Given the description of an element on the screen output the (x, y) to click on. 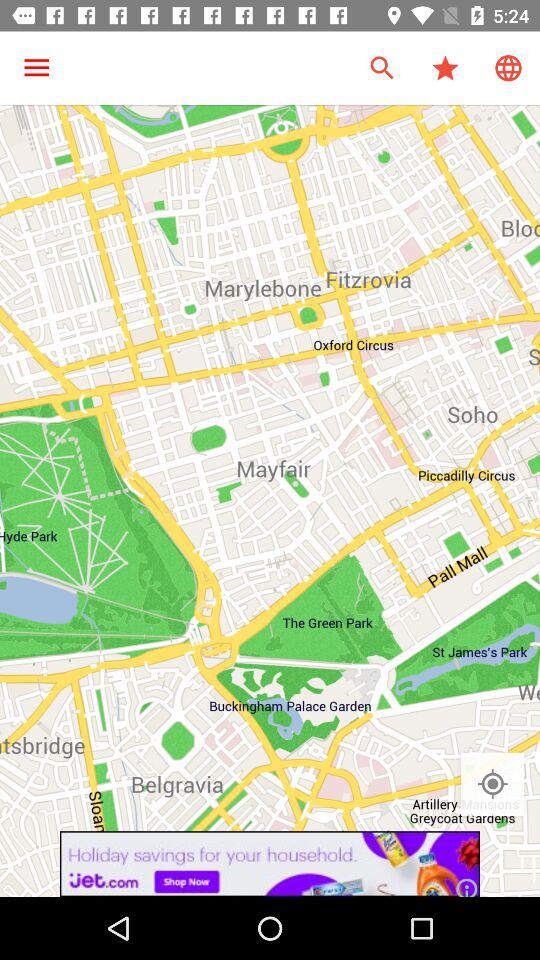
turn on navigation (492, 783)
